Given the description of an element on the screen output the (x, y) to click on. 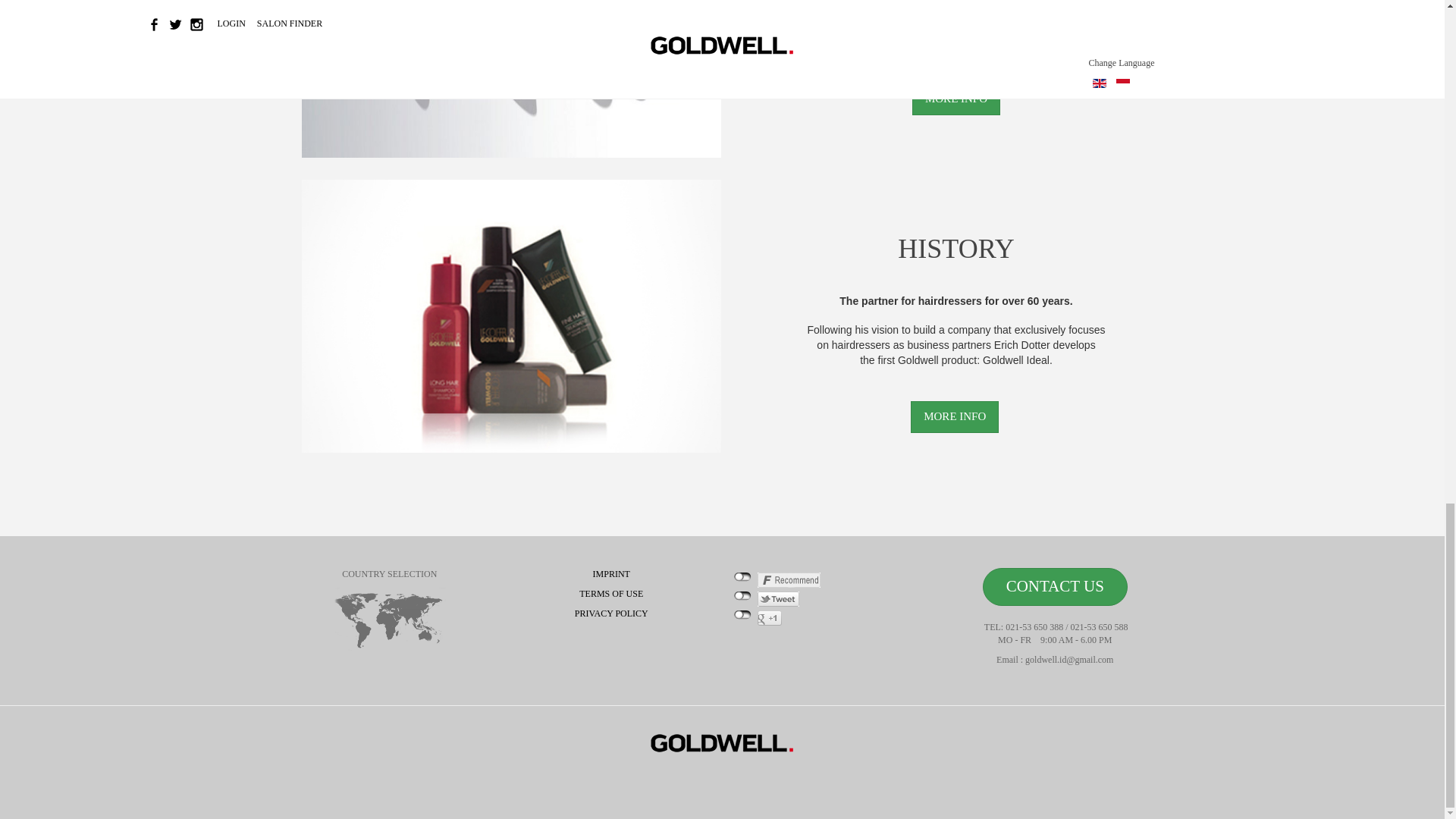
Back to Top (1418, 547)
